Given the description of an element on the screen output the (x, y) to click on. 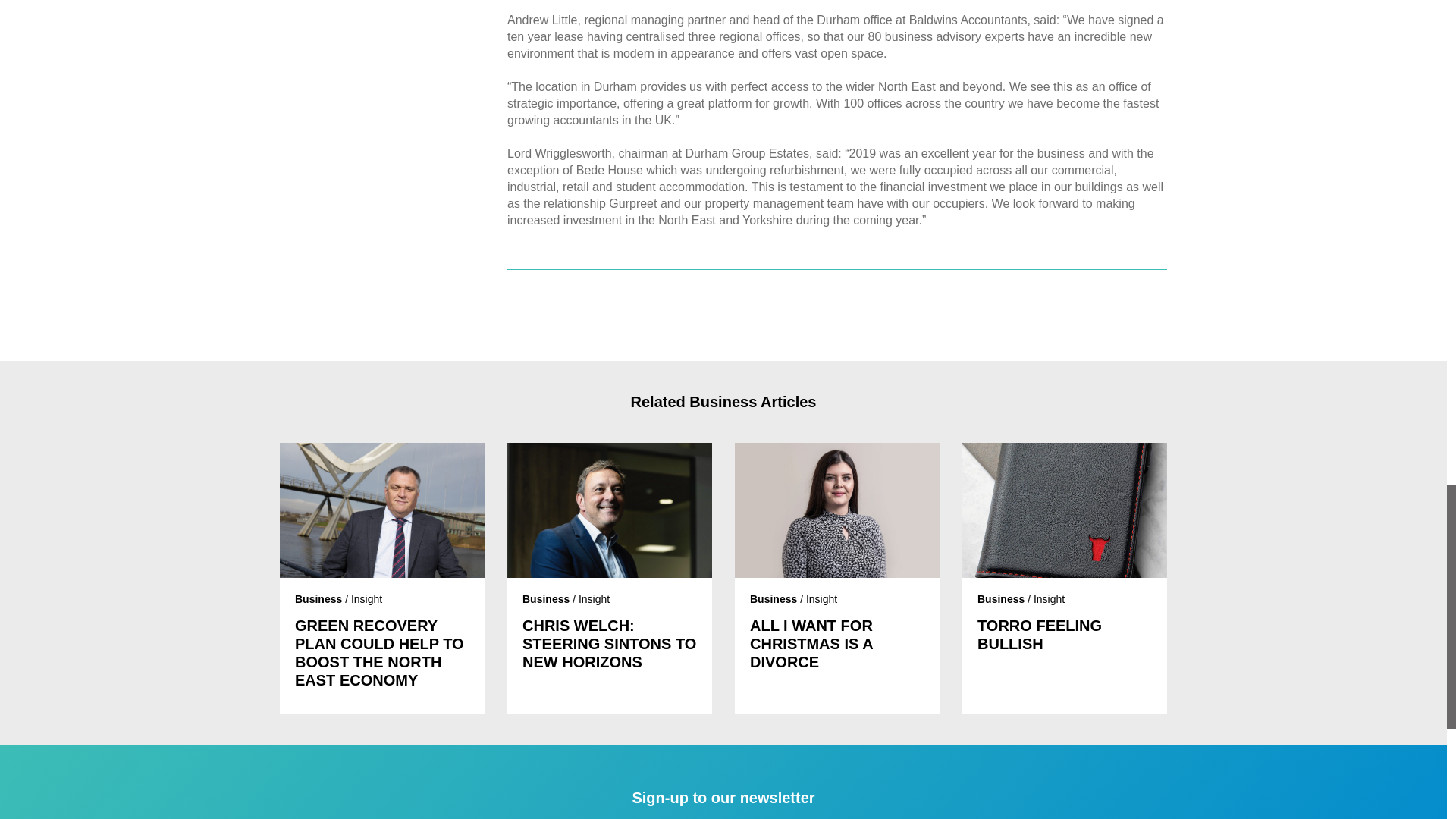
ALL I WANT FOR CHRISTMAS IS A DIVORCE (836, 643)
CHRIS WELCH: STEERING SINTONS TO NEW HORIZONS (609, 643)
TORRO FEELING BULLISH (1063, 634)
